Given the description of an element on the screen output the (x, y) to click on. 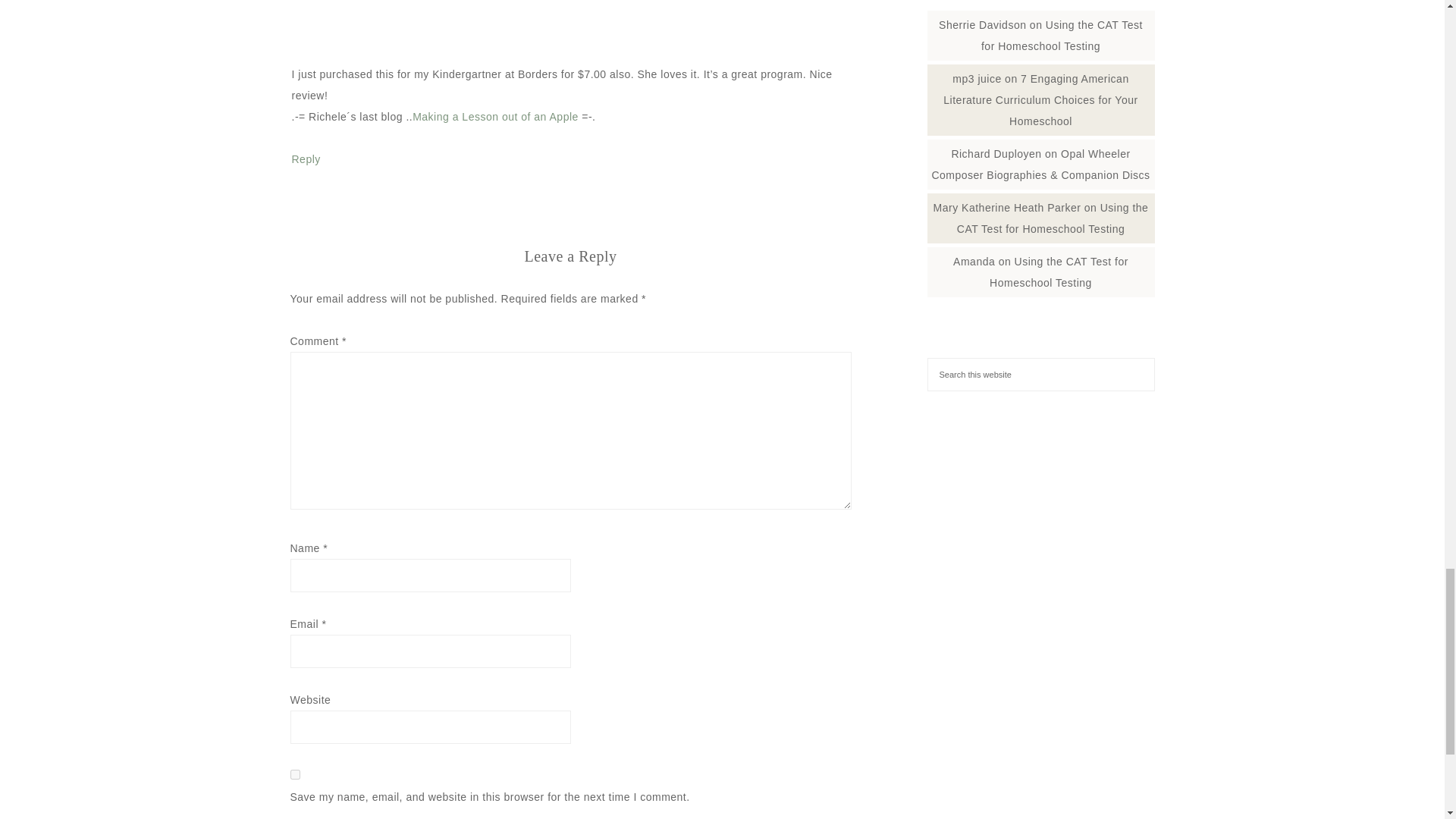
yes (294, 774)
